Given the description of an element on the screen output the (x, y) to click on. 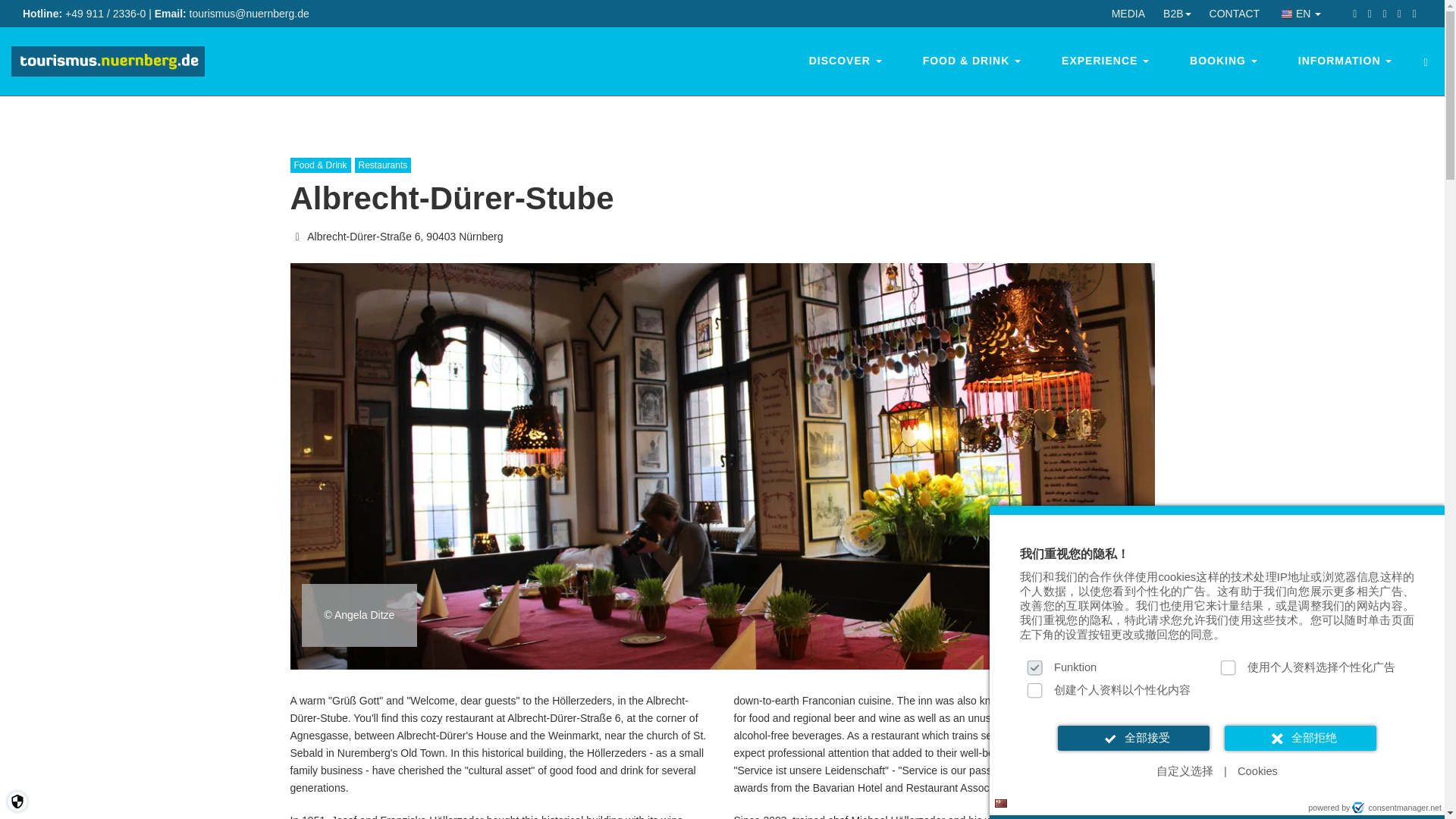
twitter (1369, 13)
pinterest (1384, 13)
Contact (1234, 13)
Suchen (27, 14)
Cookies (1257, 771)
MEDIA (1128, 13)
EXPERIENCE (1104, 61)
Media (1128, 13)
X (1435, 525)
B2B (1176, 13)
